Given the description of an element on the screen output the (x, y) to click on. 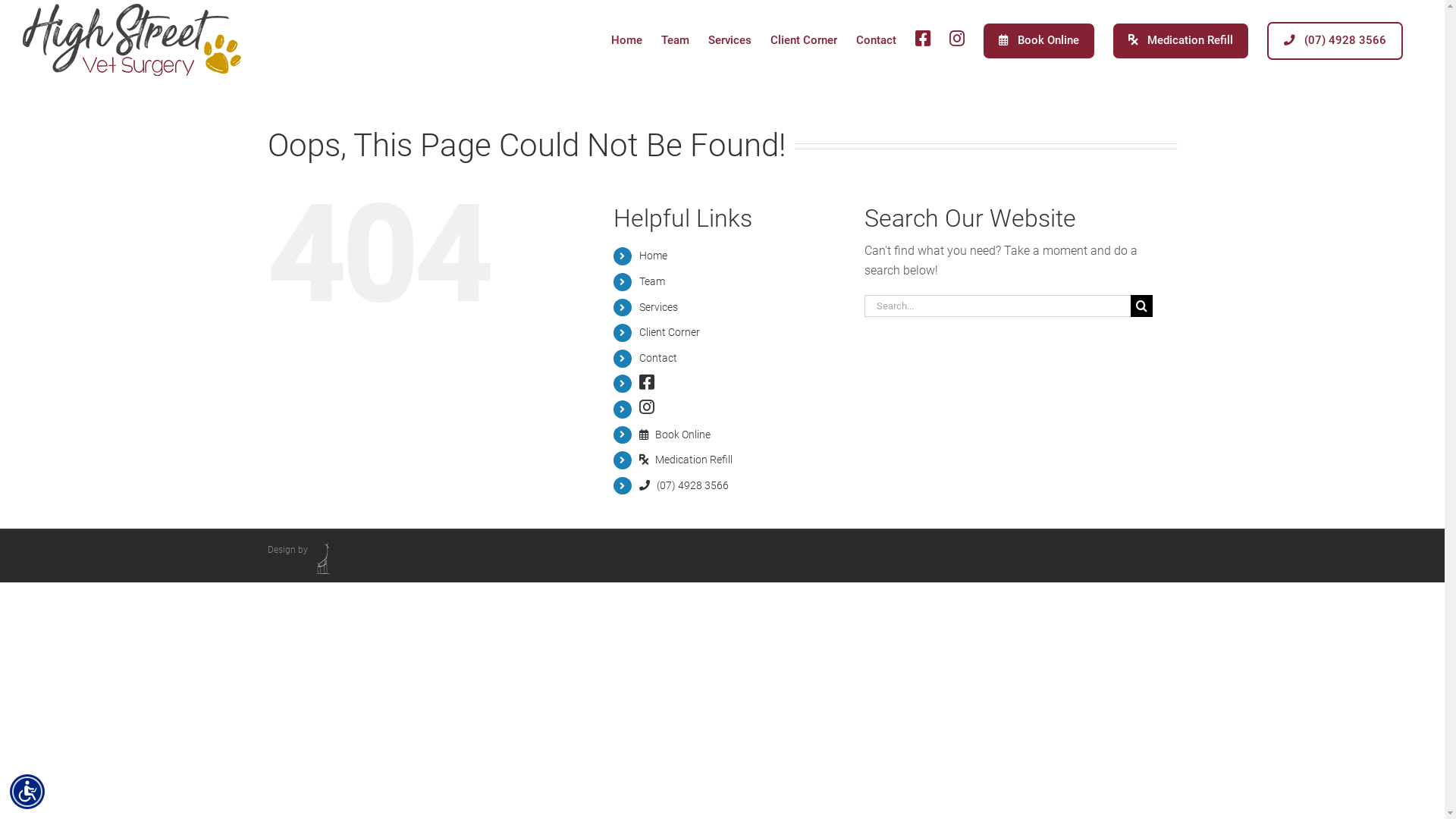
IG Element type: text (646, 408)
Client Corner Element type: text (803, 39)
  (07) 4928 3566 Element type: text (683, 485)
  Book Online Element type: text (674, 434)
Home Element type: text (653, 255)
Contact Element type: text (658, 357)
Services Element type: text (729, 39)
Client Corner Element type: text (669, 332)
fb Element type: text (646, 382)
Contact Element type: text (876, 39)
Home Element type: text (626, 39)
Services Element type: text (658, 307)
fb Element type: text (922, 39)
  Book Online Element type: text (1038, 39)
  Medication Refill Element type: text (685, 459)
Team Element type: text (675, 39)
  (07) 4928 3566 Element type: text (1334, 39)
IG Element type: text (956, 39)
  Medication Refill Element type: text (1180, 39)
Team Element type: text (652, 281)
